Given the description of an element on the screen output the (x, y) to click on. 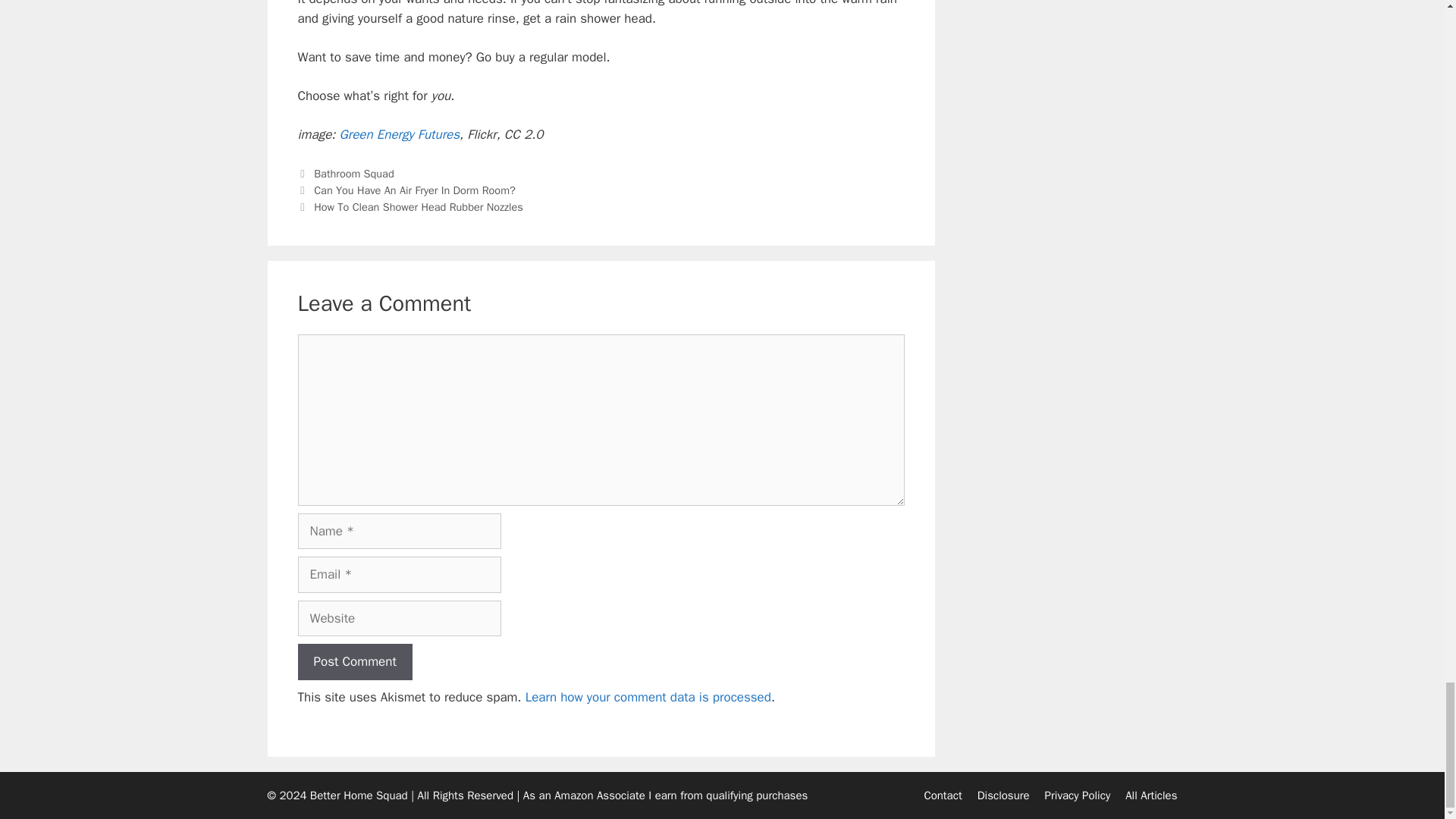
Bathroom Squad (354, 173)
Post Comment (354, 661)
How To Clean Shower Head Rubber Nozzles (418, 206)
Green Energy Futures (399, 134)
Can You Have An Air Fryer In Dorm Room? (414, 190)
Post Comment (354, 661)
Learn how your comment data is processed (648, 697)
